Given the description of an element on the screen output the (x, y) to click on. 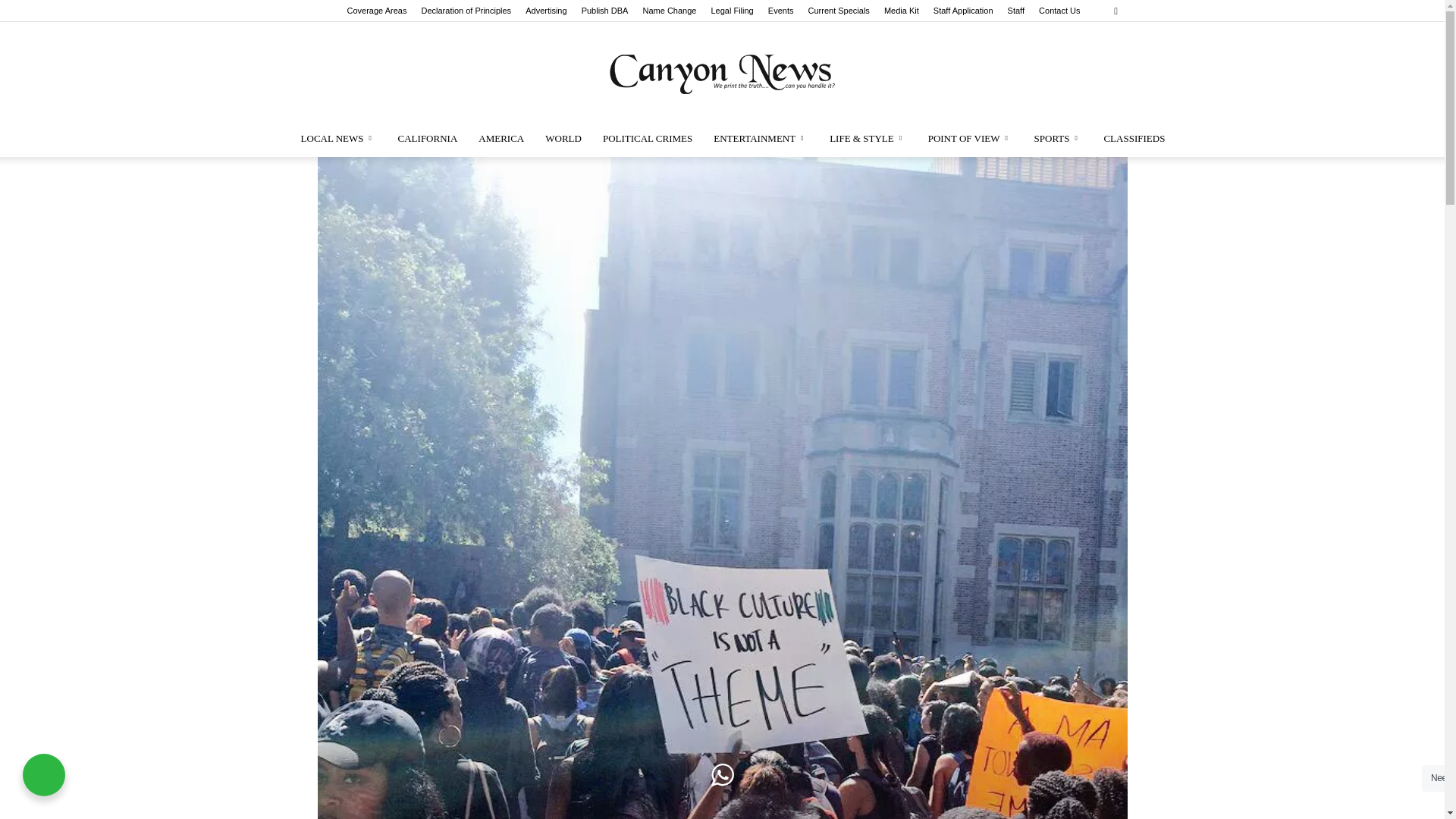
We print the truth... can you handle it? (721, 71)
